Given the description of an element on the screen output the (x, y) to click on. 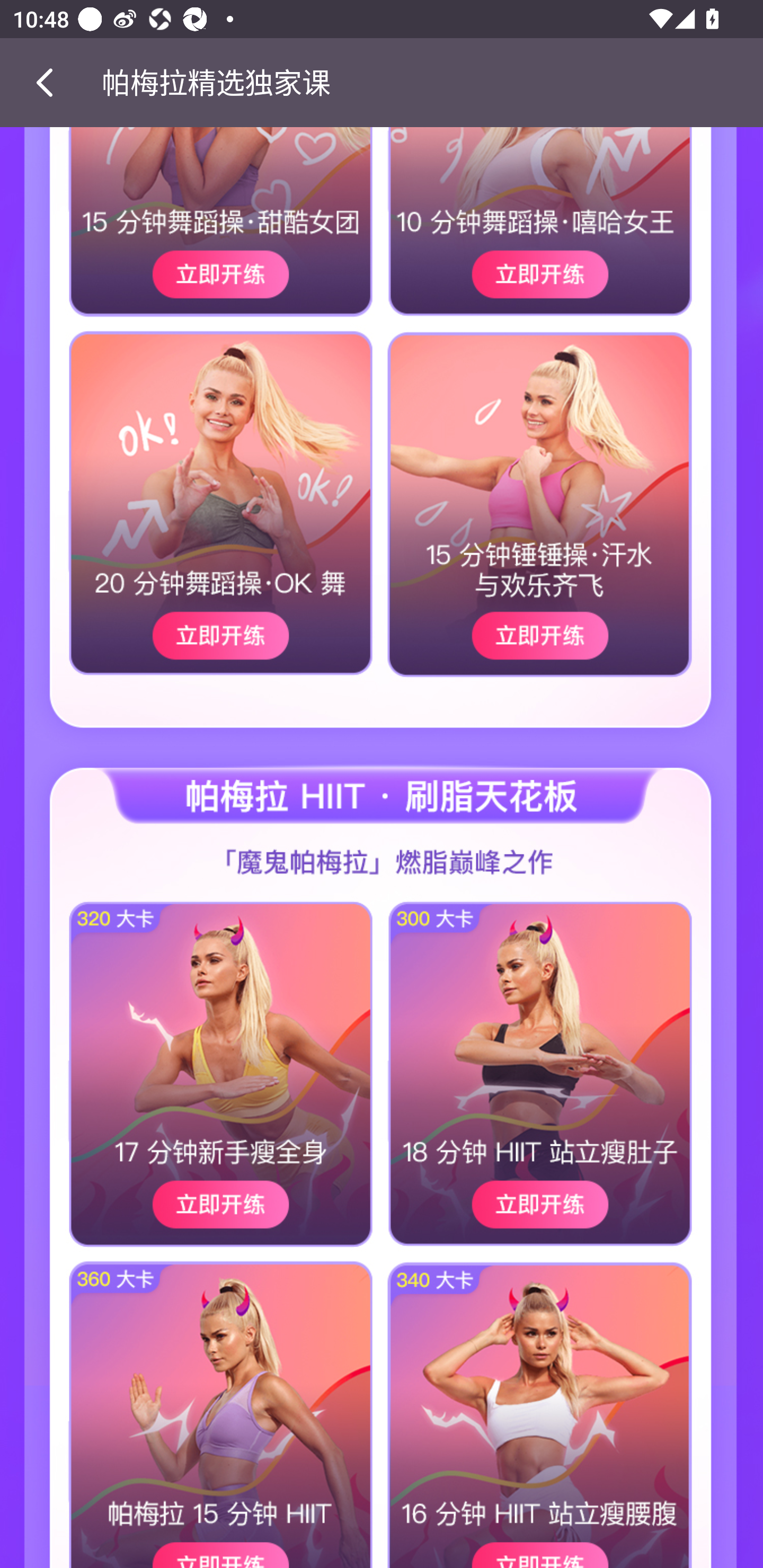
Left Button In Title Bar (50, 82)
1699844792070_375x361 (190, 227)
1699844794992_375x361 (572, 227)
1699844798983_375x418 (190, 537)
1699844801796_375x418 (572, 537)
1699847479931_375x498 (190, 1001)
1699847484844_375x498 (572, 1001)
1699847489553_375x468 (190, 1410)
1699847492937_375x468 (572, 1410)
